Given the description of an element on the screen output the (x, y) to click on. 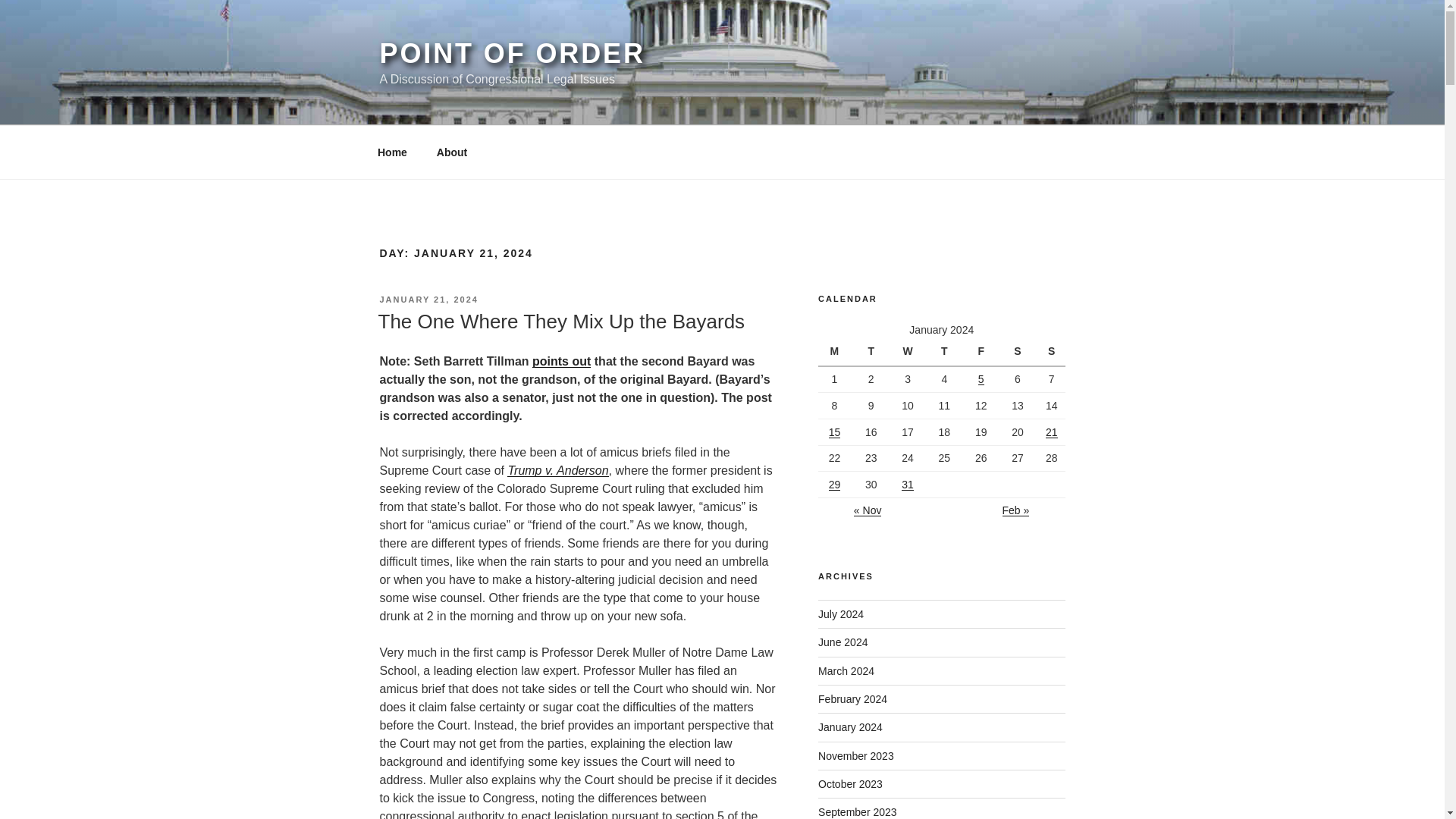
Monday (836, 352)
January 2024 (850, 727)
Thursday (945, 352)
June 2024 (842, 642)
15 (834, 431)
About (451, 151)
Saturday (1019, 352)
July 2024 (840, 613)
Friday (982, 352)
JANUARY 21, 2024 (427, 298)
